Given the description of an element on the screen output the (x, y) to click on. 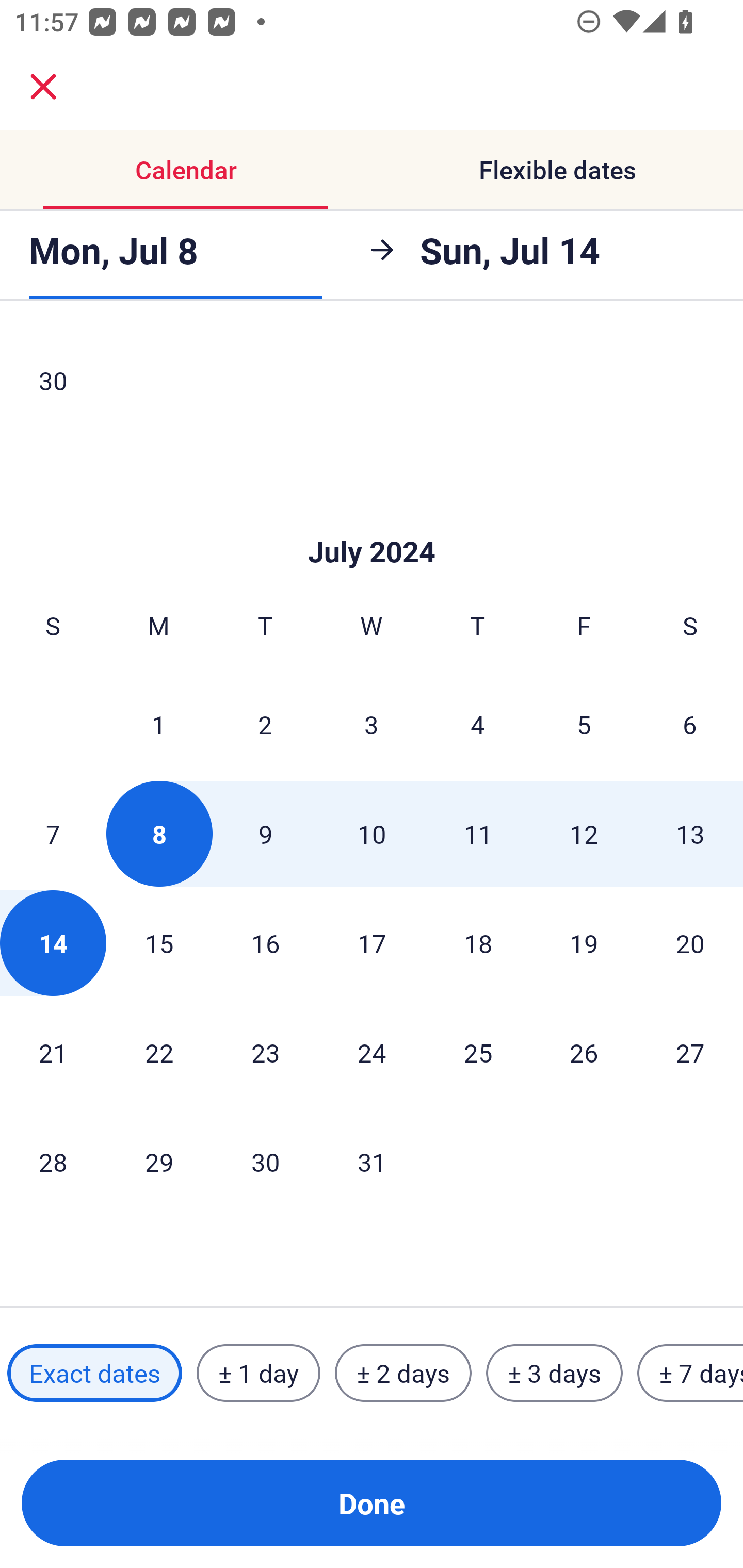
close. (43, 86)
Flexible dates (557, 170)
30 Sunday, June 30, 2024 (53, 381)
Skip to Done (371, 521)
1 Monday, July 1, 2024 (158, 724)
2 Tuesday, July 2, 2024 (264, 724)
3 Wednesday, July 3, 2024 (371, 724)
4 Thursday, July 4, 2024 (477, 724)
5 Friday, July 5, 2024 (583, 724)
6 Saturday, July 6, 2024 (689, 724)
7 Sunday, July 7, 2024 (53, 832)
15 Monday, July 15, 2024 (159, 942)
16 Tuesday, July 16, 2024 (265, 942)
17 Wednesday, July 17, 2024 (371, 942)
18 Thursday, July 18, 2024 (477, 942)
19 Friday, July 19, 2024 (584, 942)
20 Saturday, July 20, 2024 (690, 942)
21 Sunday, July 21, 2024 (53, 1052)
22 Monday, July 22, 2024 (159, 1052)
23 Tuesday, July 23, 2024 (265, 1052)
24 Wednesday, July 24, 2024 (371, 1052)
25 Thursday, July 25, 2024 (477, 1052)
26 Friday, July 26, 2024 (584, 1052)
27 Saturday, July 27, 2024 (690, 1052)
28 Sunday, July 28, 2024 (53, 1161)
29 Monday, July 29, 2024 (159, 1161)
30 Tuesday, July 30, 2024 (265, 1161)
31 Wednesday, July 31, 2024 (371, 1161)
Exact dates (94, 1372)
± 1 day (258, 1372)
± 2 days (403, 1372)
± 3 days (553, 1372)
± 7 days (690, 1372)
Done (371, 1502)
